Given the description of an element on the screen output the (x, y) to click on. 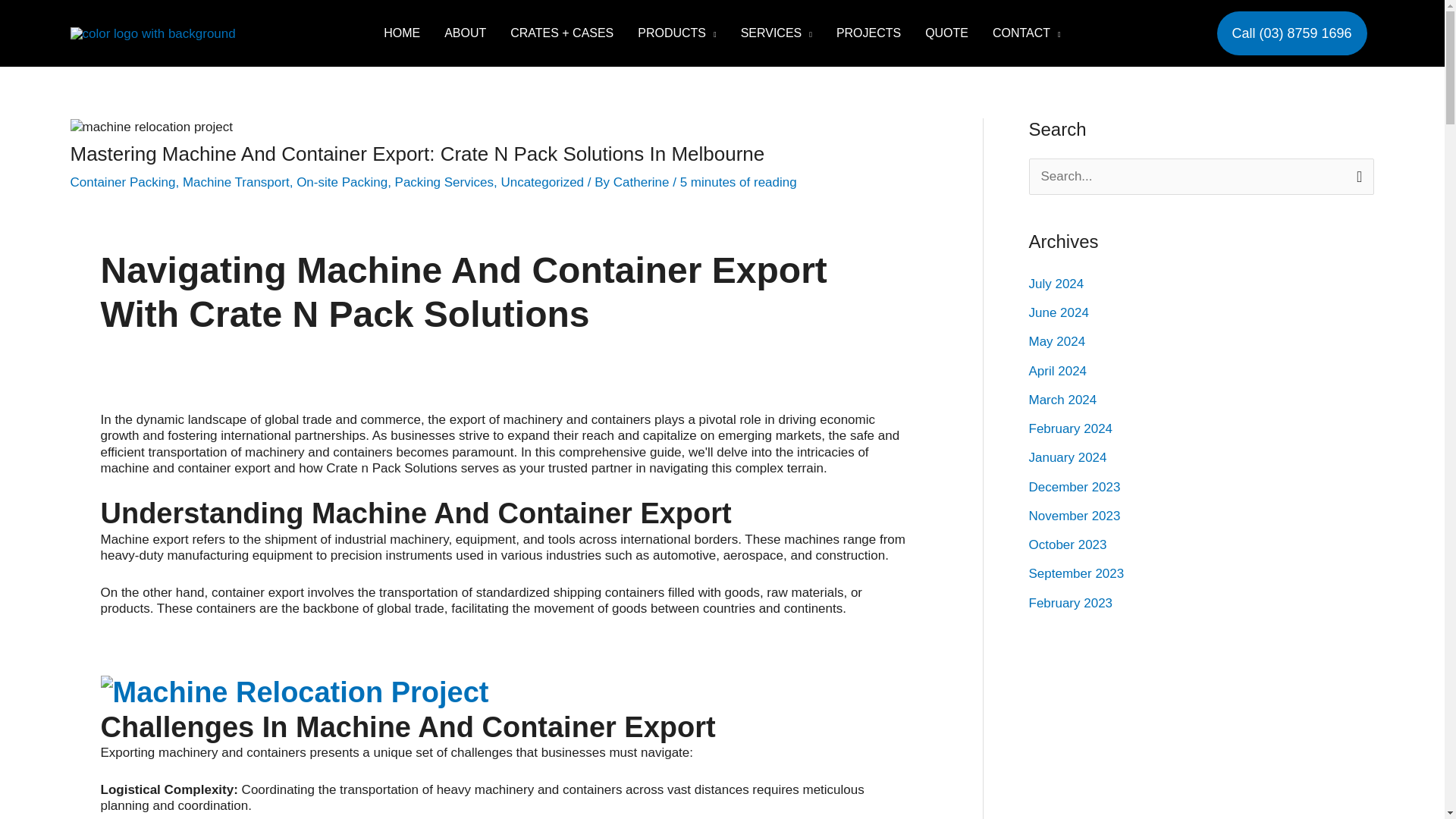
ABOUT (464, 33)
SERVICES (776, 33)
CONTACT (1026, 33)
PRODUCTS (677, 33)
Search (1356, 174)
Search (1356, 174)
PROJECTS (868, 33)
View all posts by Catherine (642, 182)
QUOTE (945, 33)
HOME (401, 33)
